Given the description of an element on the screen output the (x, y) to click on. 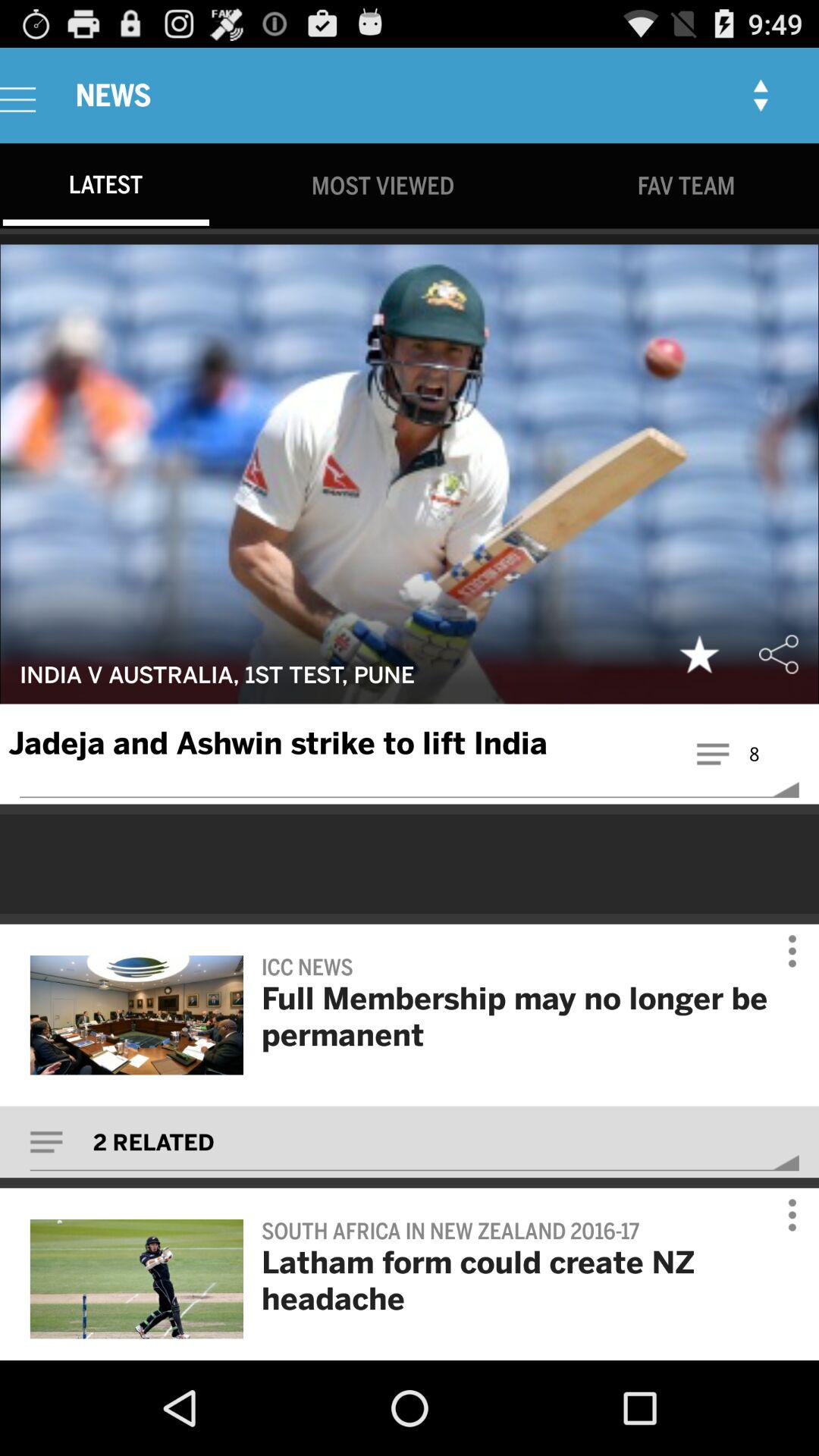
click on first more button (782, 950)
